Given the description of an element on the screen output the (x, y) to click on. 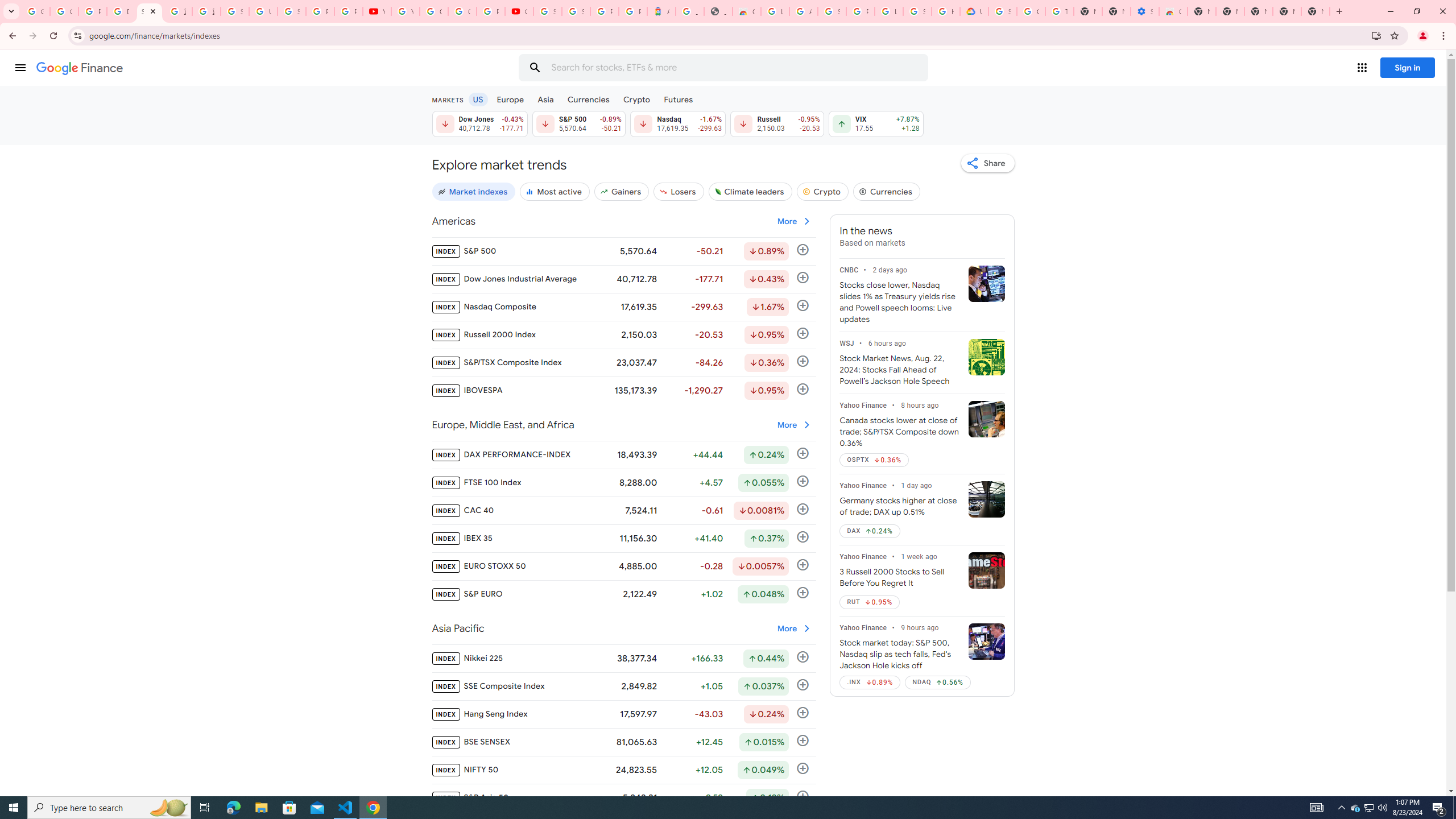
Atour Hotel - Google hotels (661, 11)
Chrome Web Store - Household (746, 11)
Gainers (621, 191)
GLeaf logo Climate leaders (749, 191)
Market indexes (472, 191)
Main menu (20, 67)
New Tab (1315, 11)
